Given the description of an element on the screen output the (x, y) to click on. 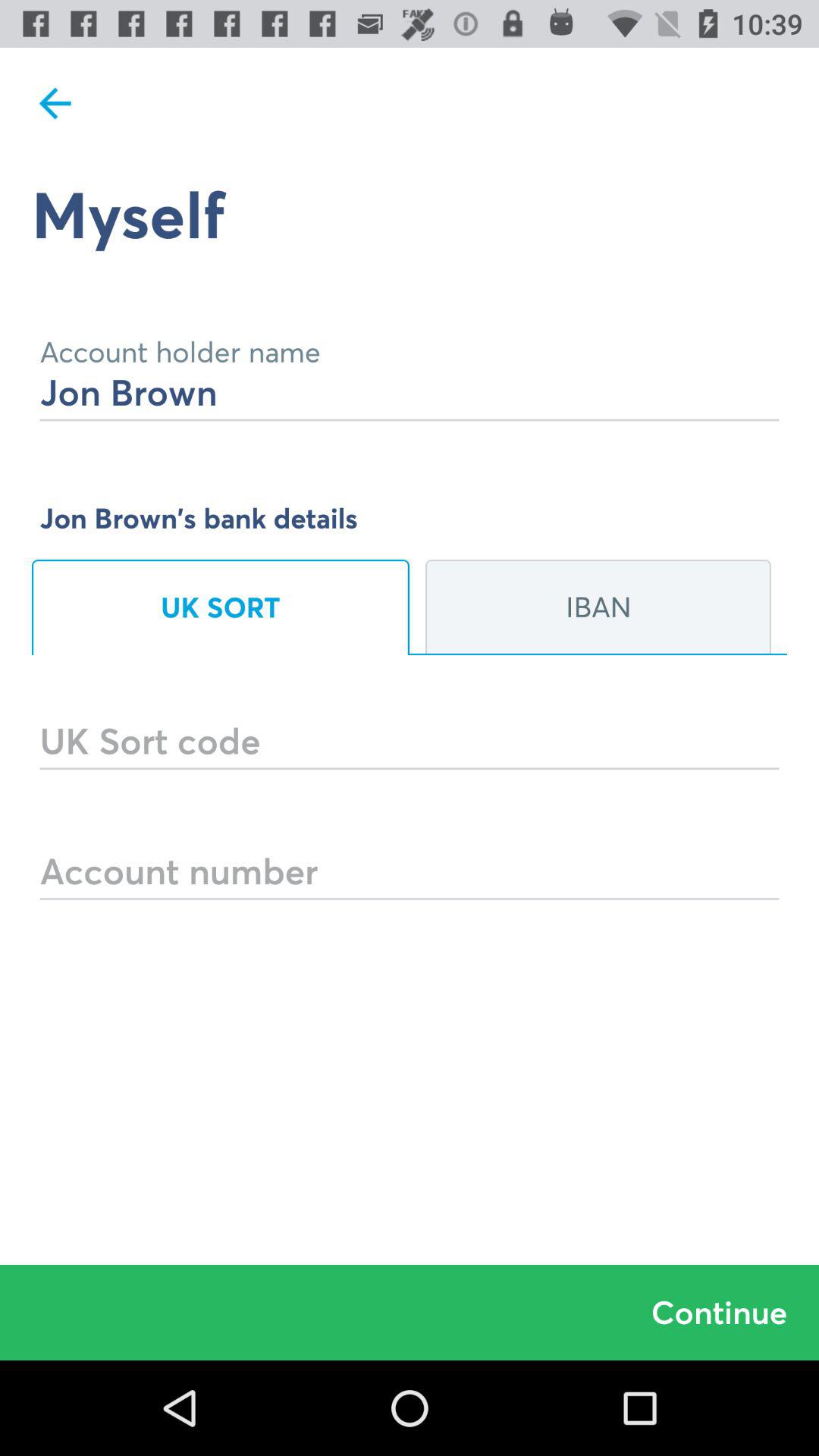
launch the icon below jon brown s icon (220, 607)
